Given the description of an element on the screen output the (x, y) to click on. 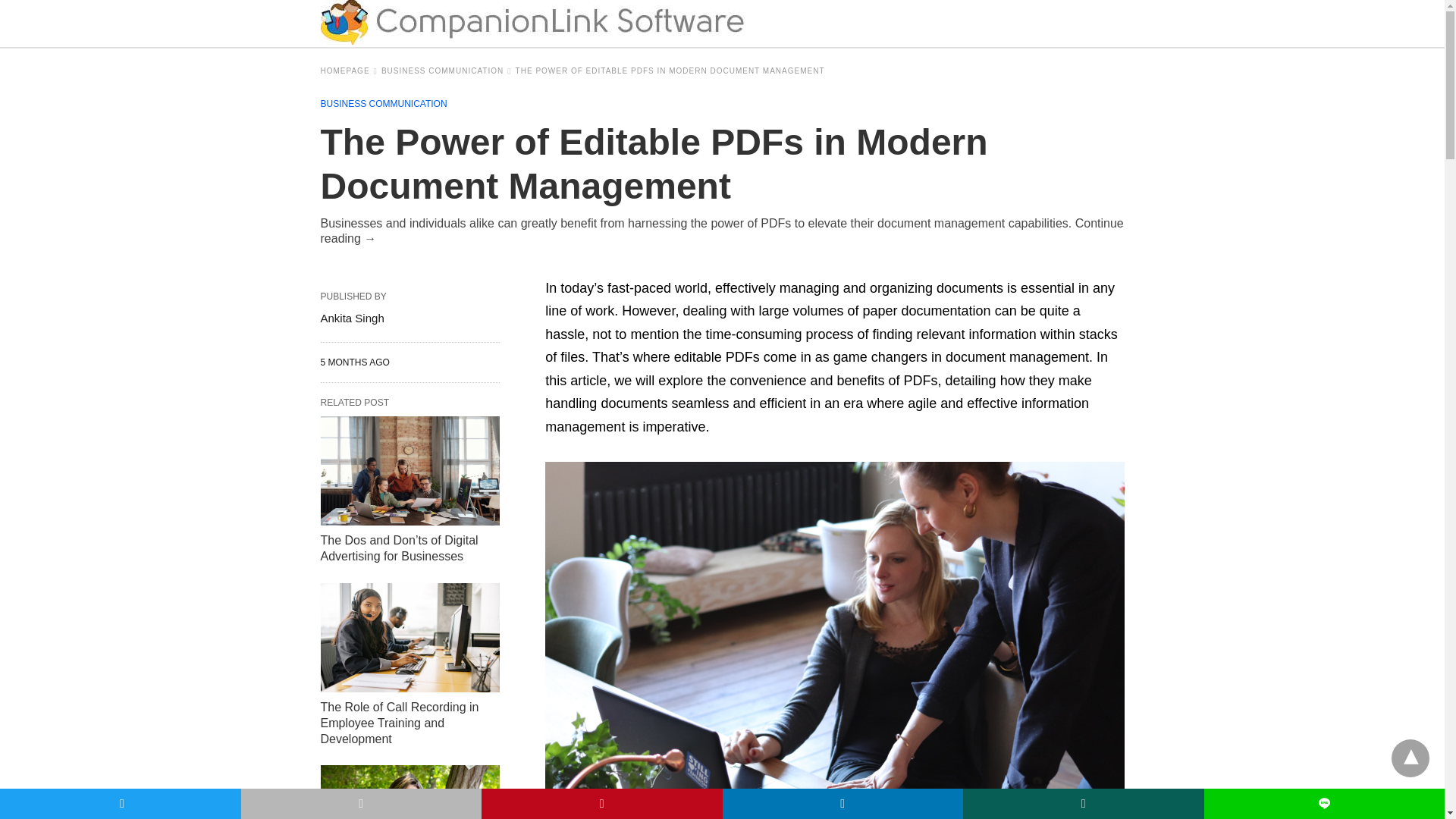
BUSINESS COMMUNICATION (446, 70)
Business Communication (446, 70)
HOMEPAGE (348, 70)
CompanionLink Blog (532, 22)
BUSINESS COMMUNICATION (383, 103)
Homepage (348, 70)
Business Communication (383, 103)
twitter share (120, 803)
